Given the description of an element on the screen output the (x, y) to click on. 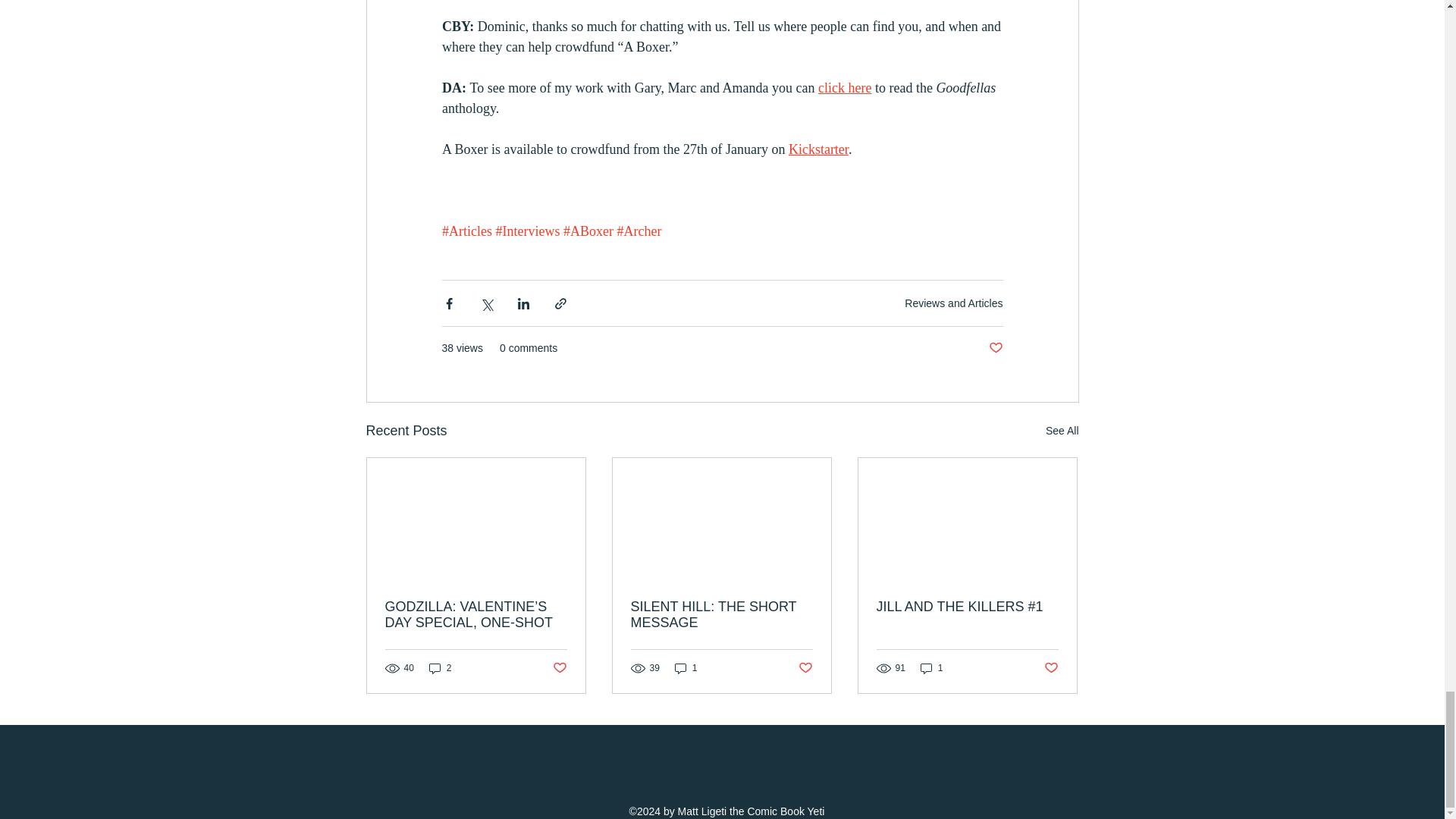
Kickstarter (817, 149)
See All (1061, 431)
Post not marked as liked (995, 348)
Reviews and Articles (953, 303)
click here (843, 87)
